Given the description of an element on the screen output the (x, y) to click on. 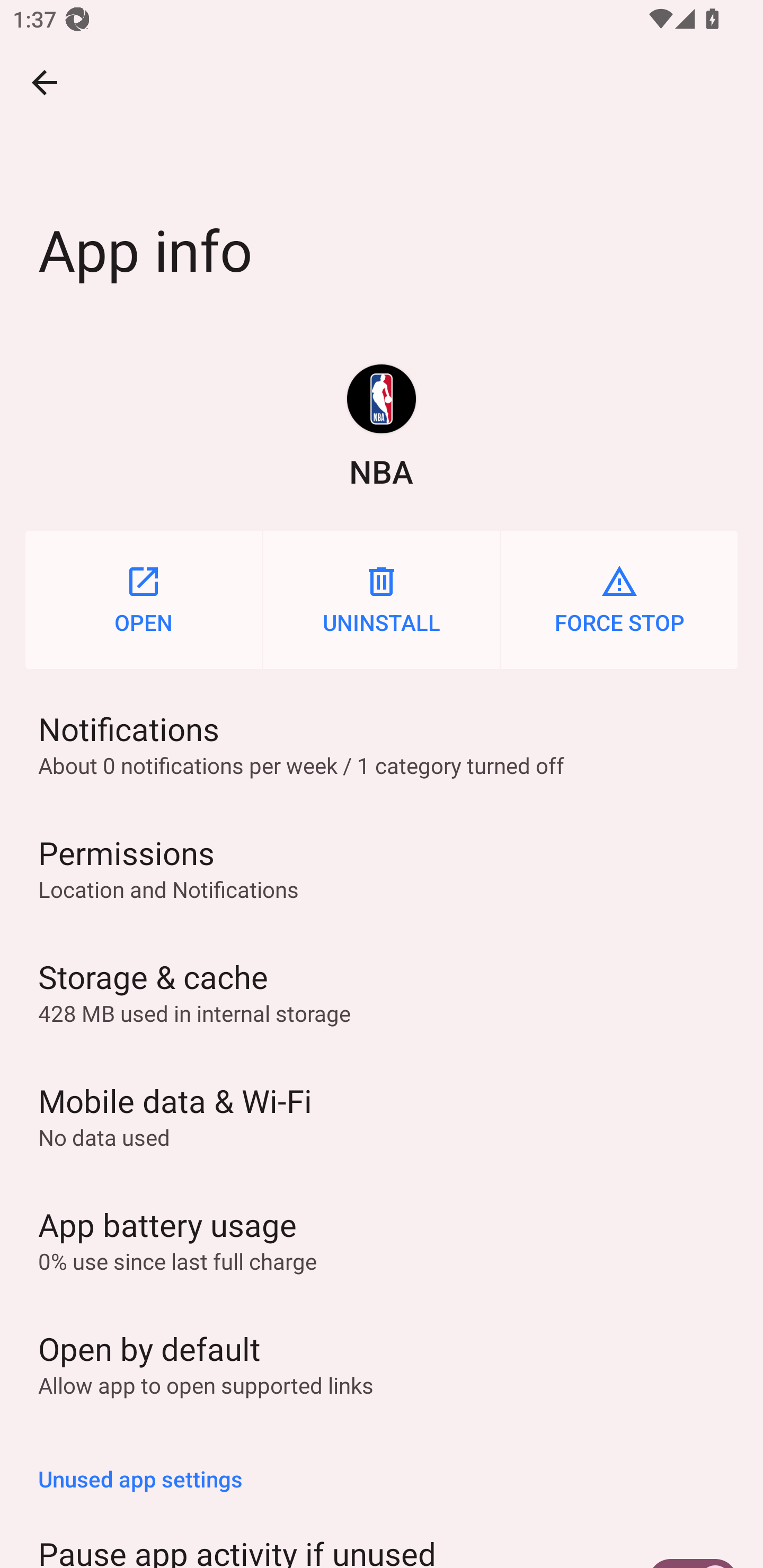
Navigate up (44, 82)
OPEN (143, 600)
UNINSTALL (381, 600)
FORCE STOP (619, 600)
Permissions Location and Notifications (381, 867)
Storage & cache 428 MB used in internal storage (381, 991)
Mobile data & Wi‑Fi No data used (381, 1115)
App battery usage 0% use since last full charge (381, 1239)
Open by default Allow app to open supported links (381, 1363)
Pause app activity if unused (381, 1537)
